Given the description of an element on the screen output the (x, y) to click on. 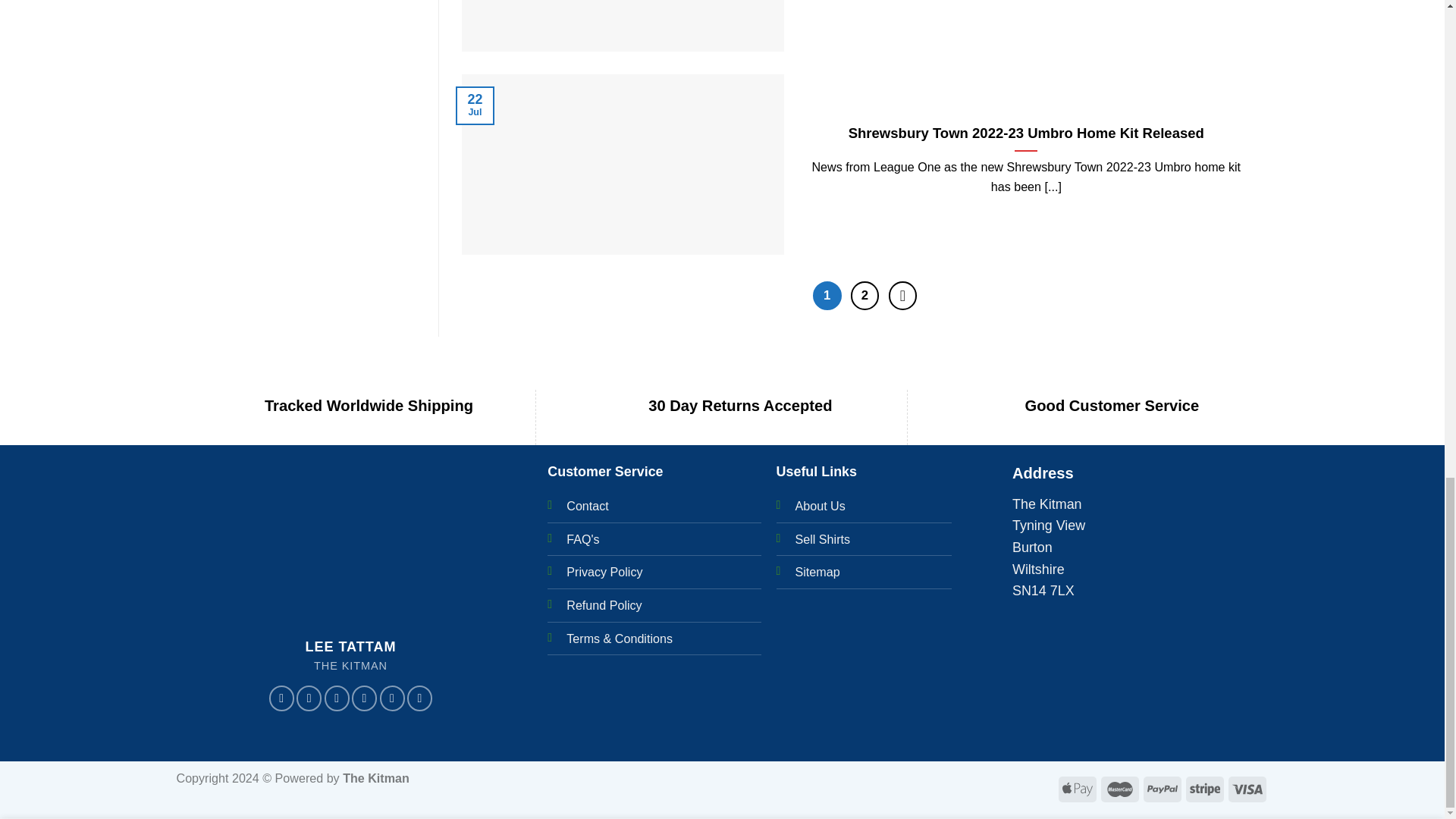
Follow on Facebook (281, 697)
Send us an email (364, 697)
Call us (391, 697)
Follow on LinkedIn (419, 697)
Follow on Twitter (336, 697)
Follow on Instagram (309, 697)
